Given the description of an element on the screen output the (x, y) to click on. 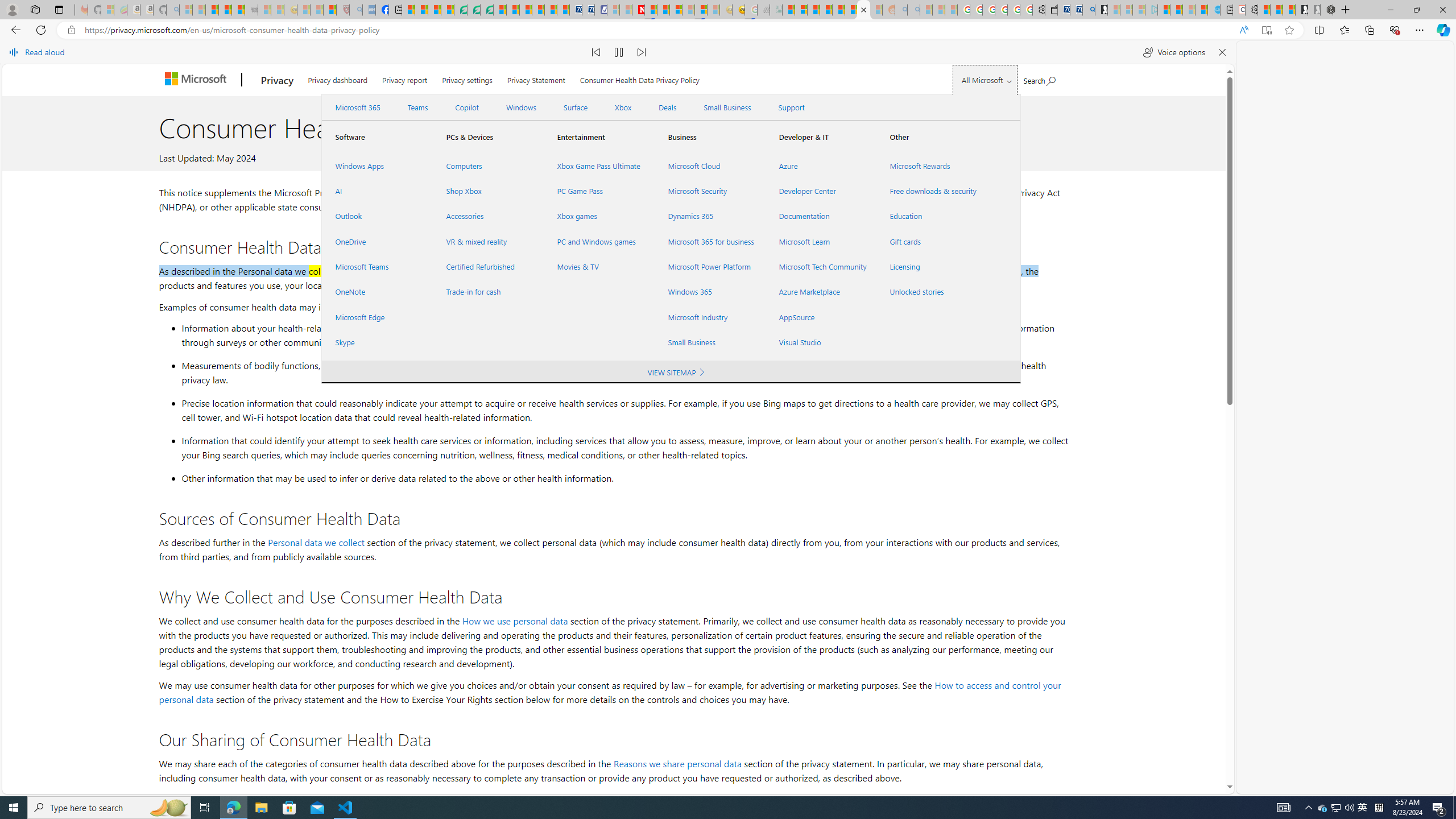
Privacy Statement (535, 77)
Developer Center (820, 190)
Azure (820, 165)
14 Common Myths Debunked By Scientific Facts (663, 9)
Licensing (931, 266)
How to access and control your personal data (609, 691)
Trade-in for cash (487, 291)
Search Microsoft.com (1039, 78)
Deals (667, 107)
